Given the description of an element on the screen output the (x, y) to click on. 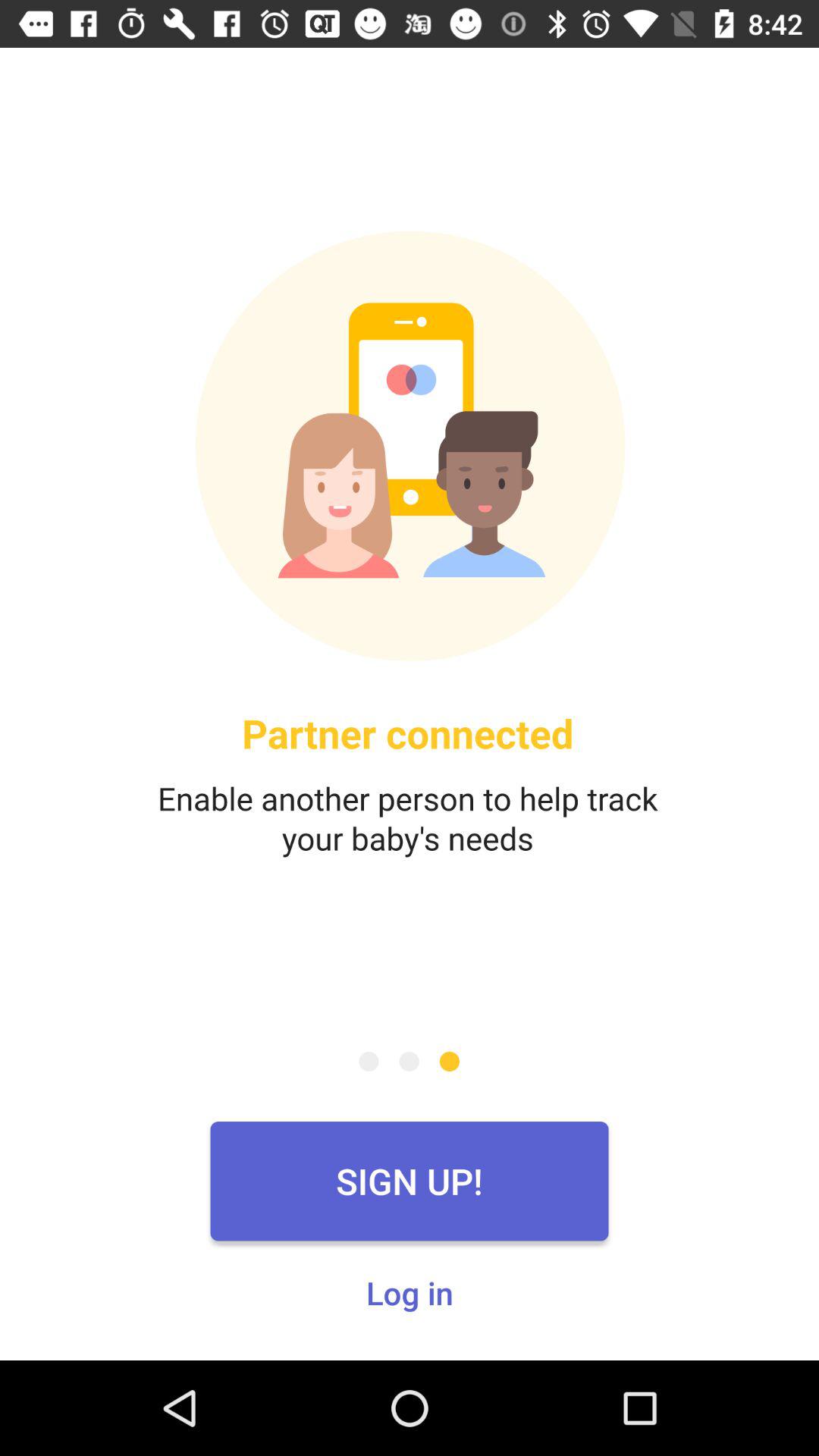
open the icon above log in (409, 1181)
